Given the description of an element on the screen output the (x, y) to click on. 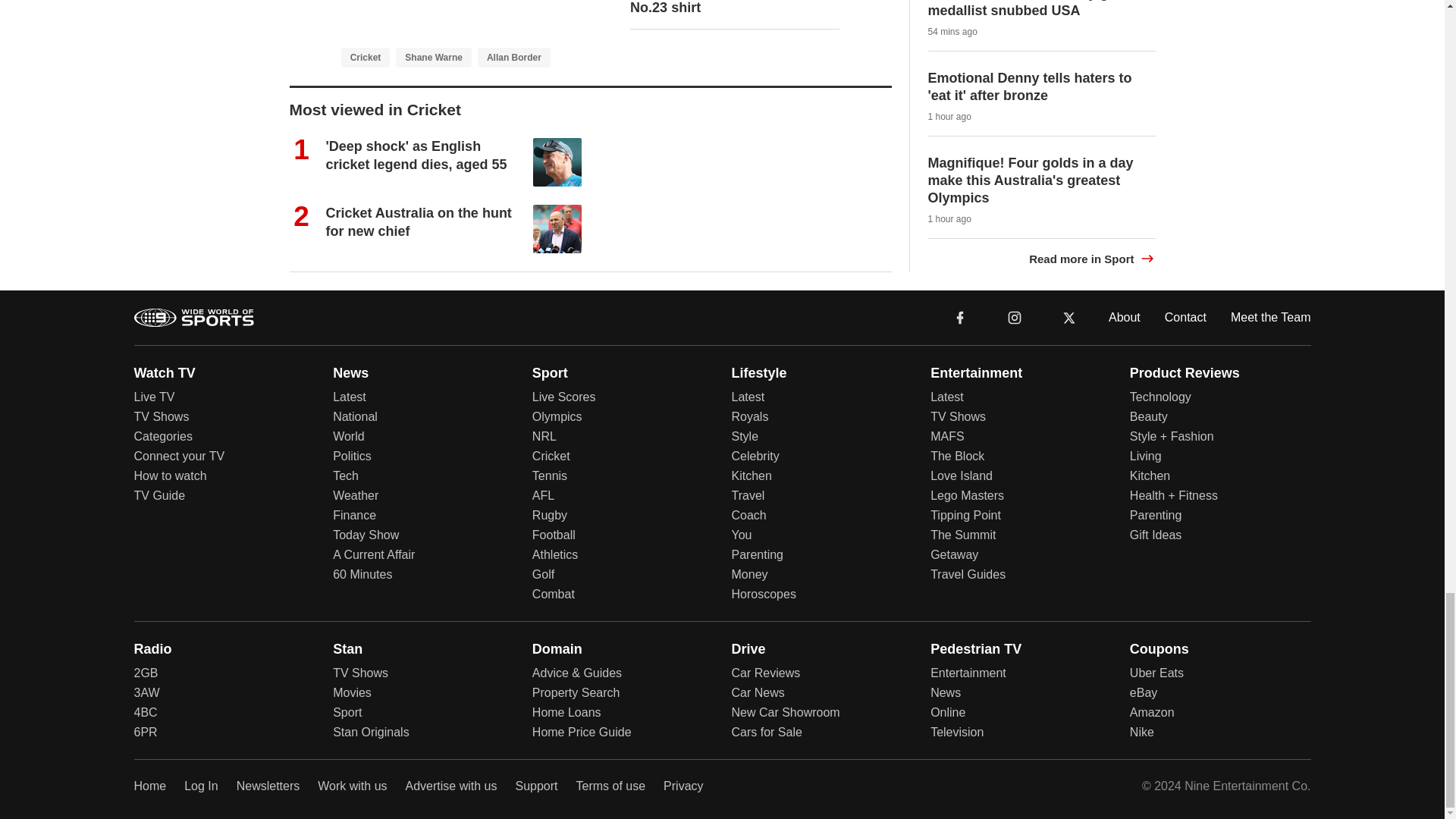
instagram (1014, 317)
Allan Border (513, 57)
Cricket Australia on the hunt for new chief (419, 221)
instagram (1013, 316)
Story behind Warne's iconic No.23 shirt (721, 7)
'Deep shock' as English cricket legend dies, aged 55 (416, 154)
Shane Warne (433, 57)
facebook (959, 316)
facebook (960, 317)
Cricket (365, 57)
